Given the description of an element on the screen output the (x, y) to click on. 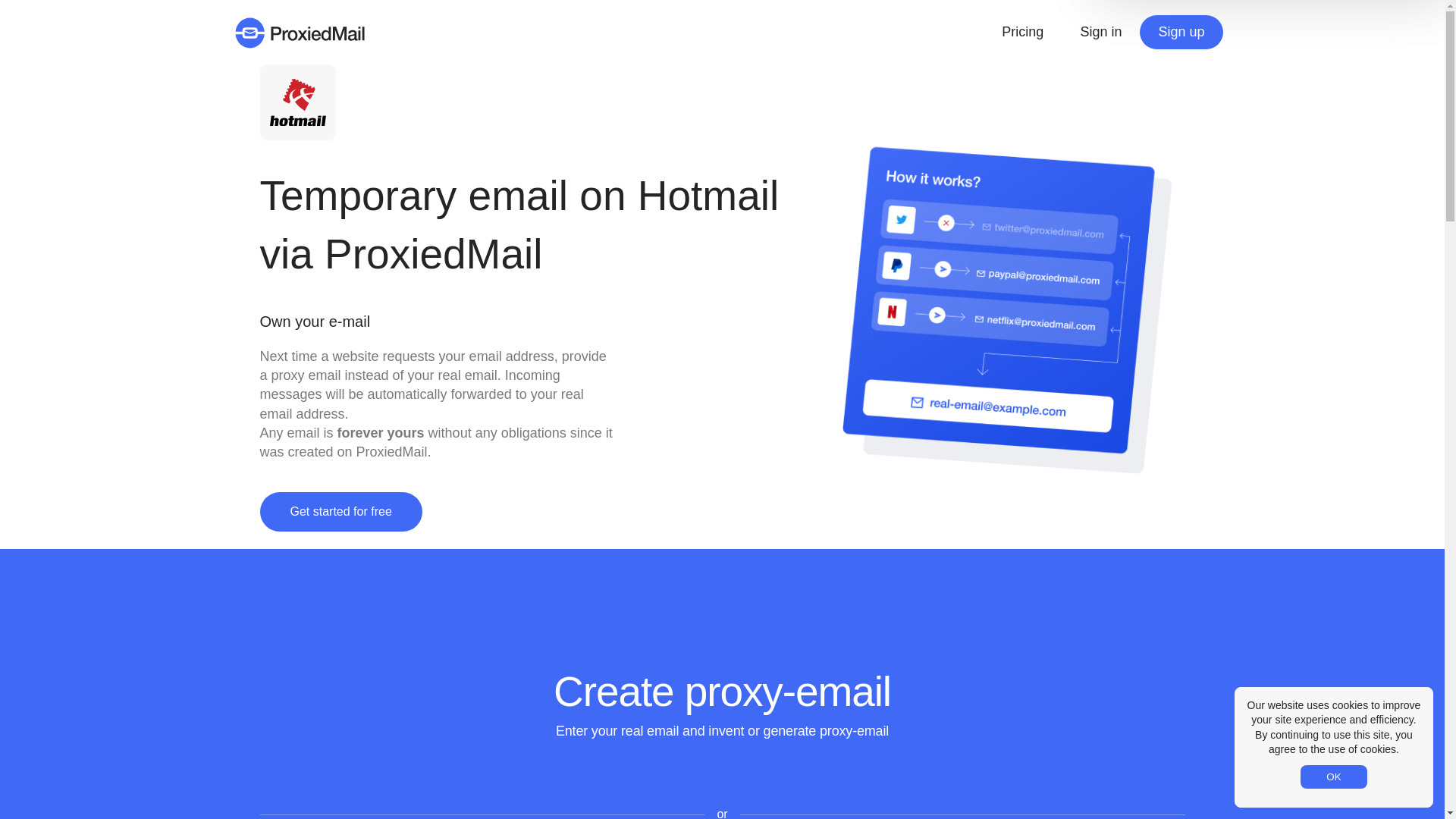
Sign in (1100, 31)
OK (1333, 776)
Pricing (1022, 31)
Create via Google (721, 773)
Sign up (1181, 32)
Get started for free (340, 511)
